Given the description of an element on the screen output the (x, y) to click on. 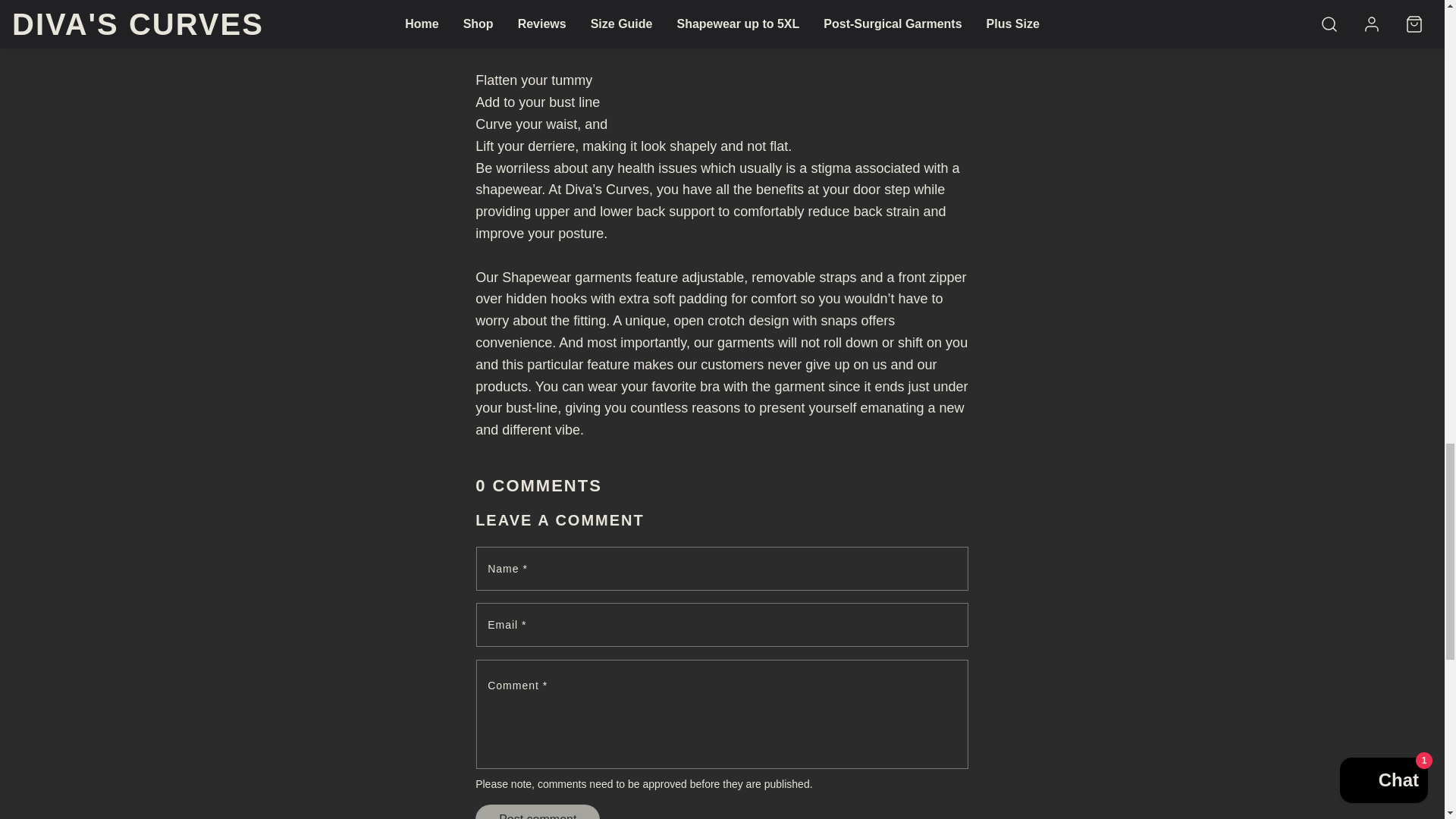
Post comment (537, 811)
Post comment (537, 811)
